Given the description of an element on the screen output the (x, y) to click on. 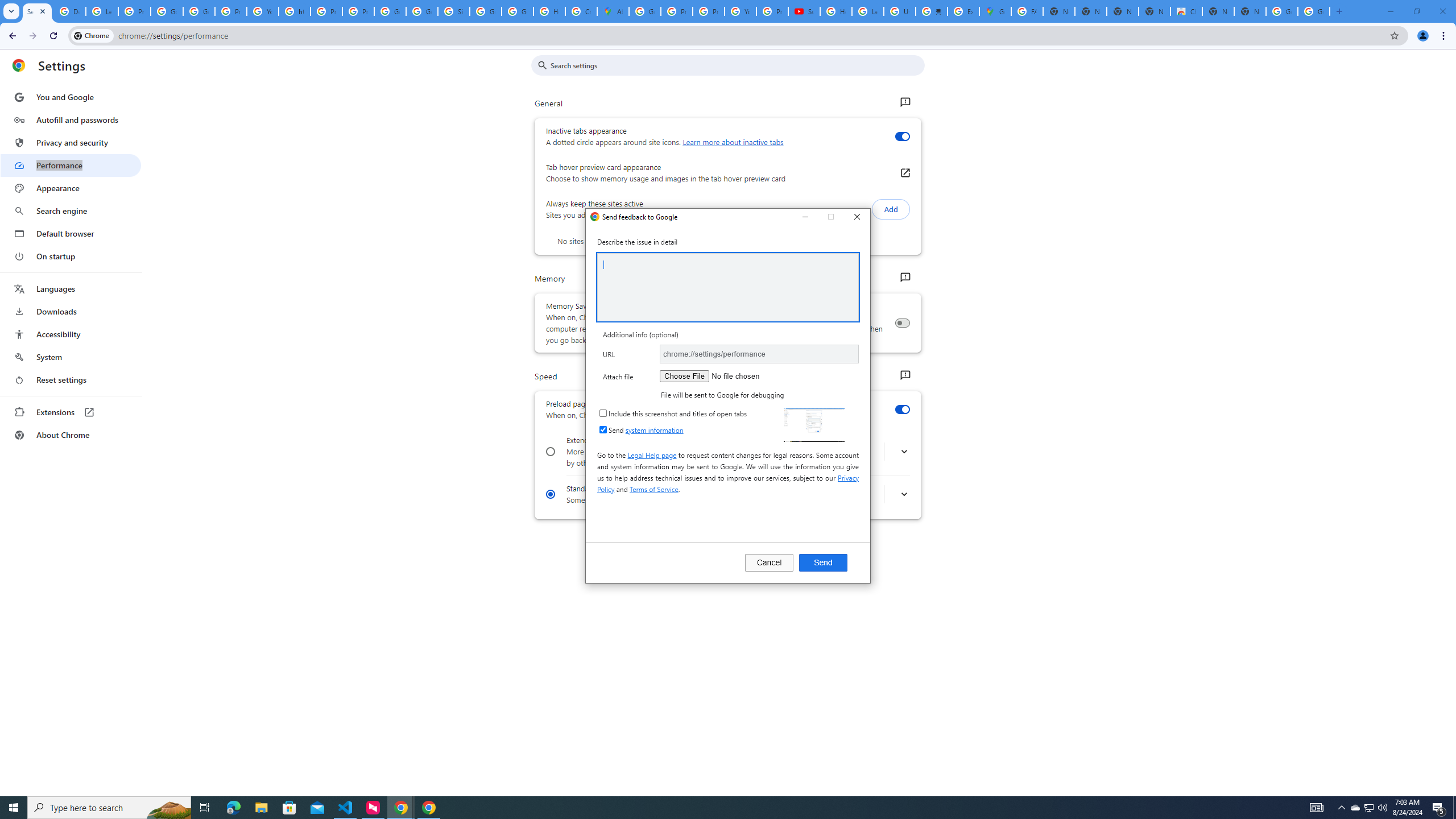
User Promoted Notification Area (1368, 807)
URL (759, 353)
YouTube (740, 11)
Create your Google Account (581, 11)
Sign in - Google Accounts (453, 11)
Autofill and passwords (70, 119)
Privacy Help Center - Policies Help (708, 11)
